Given the description of an element on the screen output the (x, y) to click on. 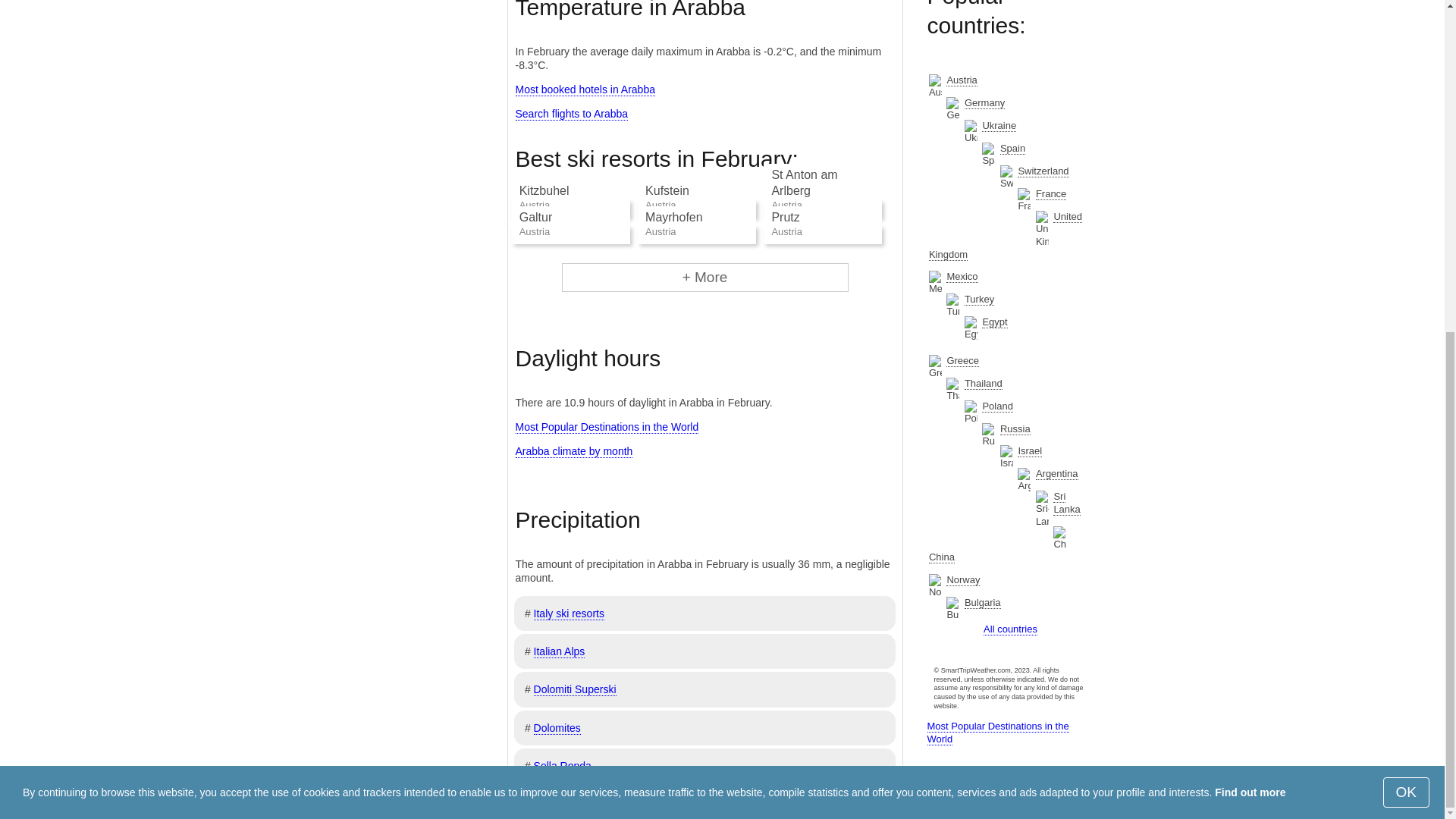
Italy ski resorts (569, 613)
Prutz (785, 216)
Dolomites (557, 727)
Mayrhofen (674, 216)
Germany (983, 102)
Ukraine (998, 125)
Kitzbuhel (544, 190)
Mexico (961, 276)
France (1050, 193)
Arabba climate by month (574, 451)
